Given the description of an element on the screen output the (x, y) to click on. 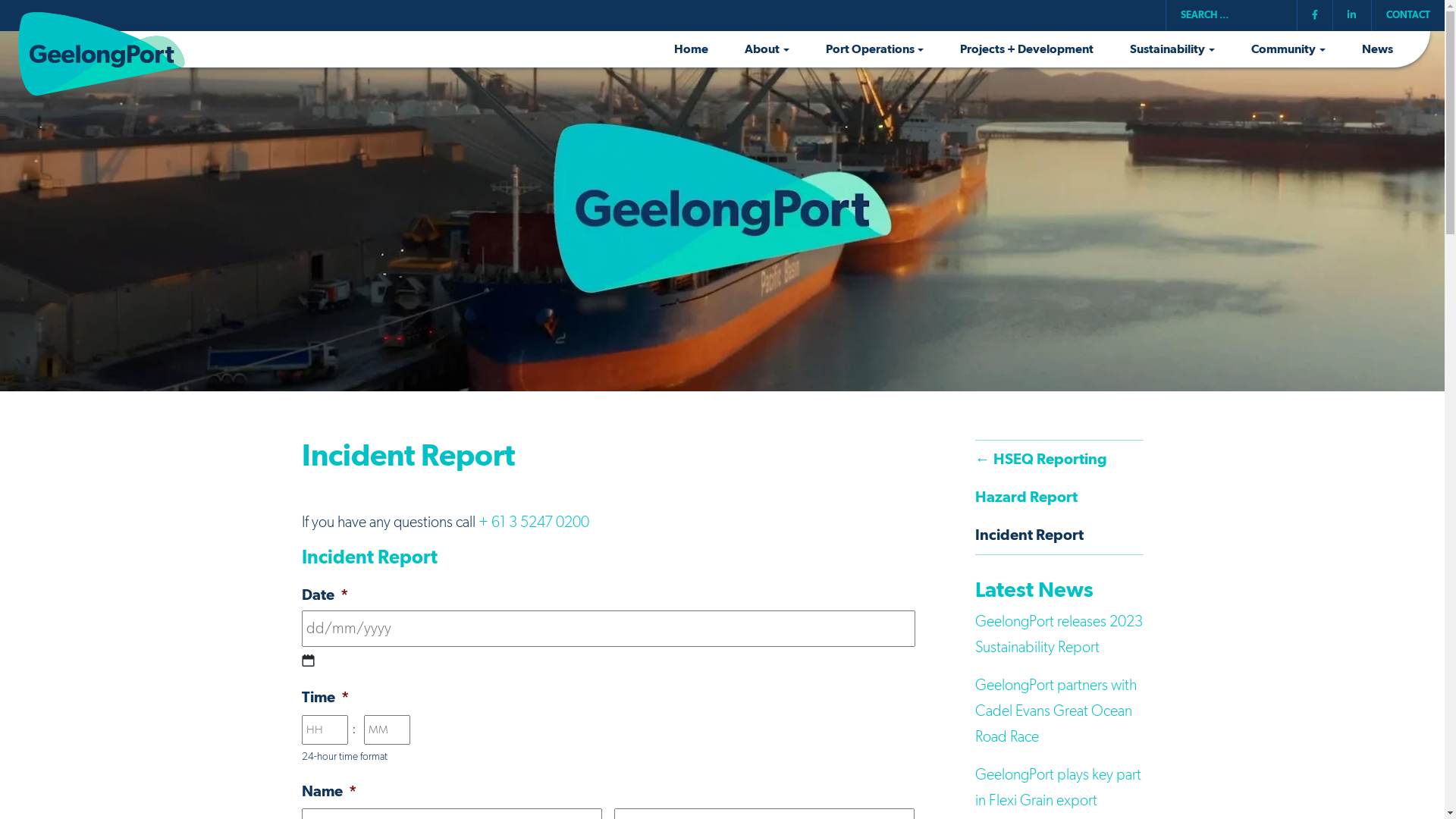
Hazard Report Element type: text (1059, 497)
GeelongPort plays key part in Flexi Grain export Element type: text (1058, 787)
Sustainability Element type: text (1172, 49)
Search for: Element type: hover (1231, 15)
Port Operations Element type: text (874, 49)
+ 61 3 5247 0200 Element type: text (531, 522)
Projects + Development Element type: text (1026, 49)
Community Element type: text (1288, 49)
GeelongPort partners with Cadel Evans Great Ocean Road Race Element type: text (1055, 710)
Incident Report Element type: text (1059, 535)
About Element type: text (766, 49)
Home Element type: text (690, 49)
News Element type: text (1377, 49)
Select date Element type: hover (307, 660)
GeelongPort releases 2023 Sustainability Report Element type: text (1058, 634)
CONTACT Element type: text (1407, 15)
